Given the description of an element on the screen output the (x, y) to click on. 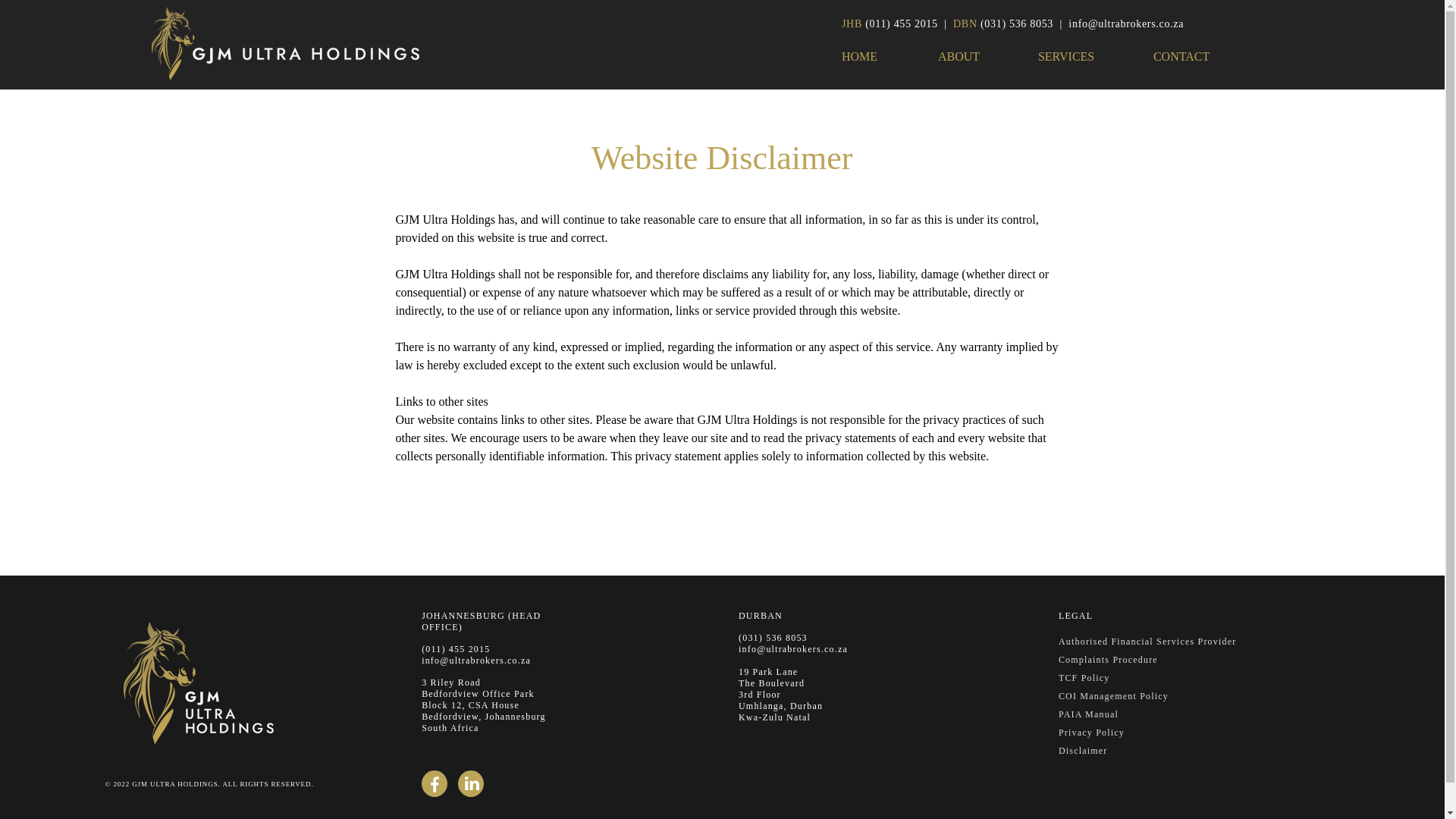
Privacy Policy (1091, 732)
TCF Policy (1083, 677)
GJM Ultra Brokers (288, 43)
GJM Ultra Brokers (204, 682)
PAIA Manual (1088, 714)
CONTACT (1203, 56)
COI Management Policy (1113, 696)
ABOUT (980, 56)
Authorised Financial Services Provider (1147, 641)
HOME (882, 56)
Complaints Procedure (1107, 659)
Disclaimer (1083, 750)
